Given the description of an element on the screen output the (x, y) to click on. 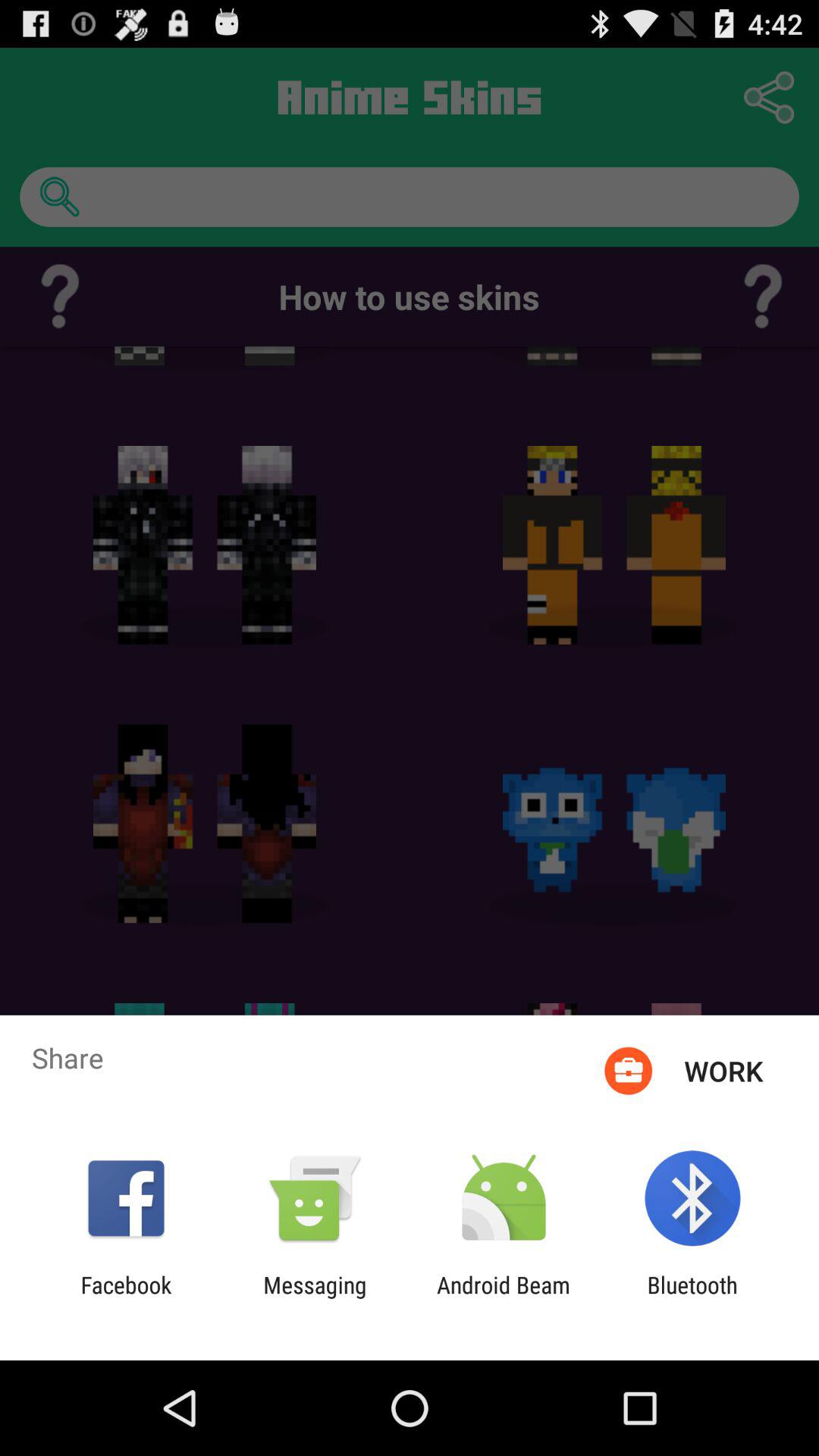
swipe until the android beam icon (503, 1298)
